Given the description of an element on the screen output the (x, y) to click on. 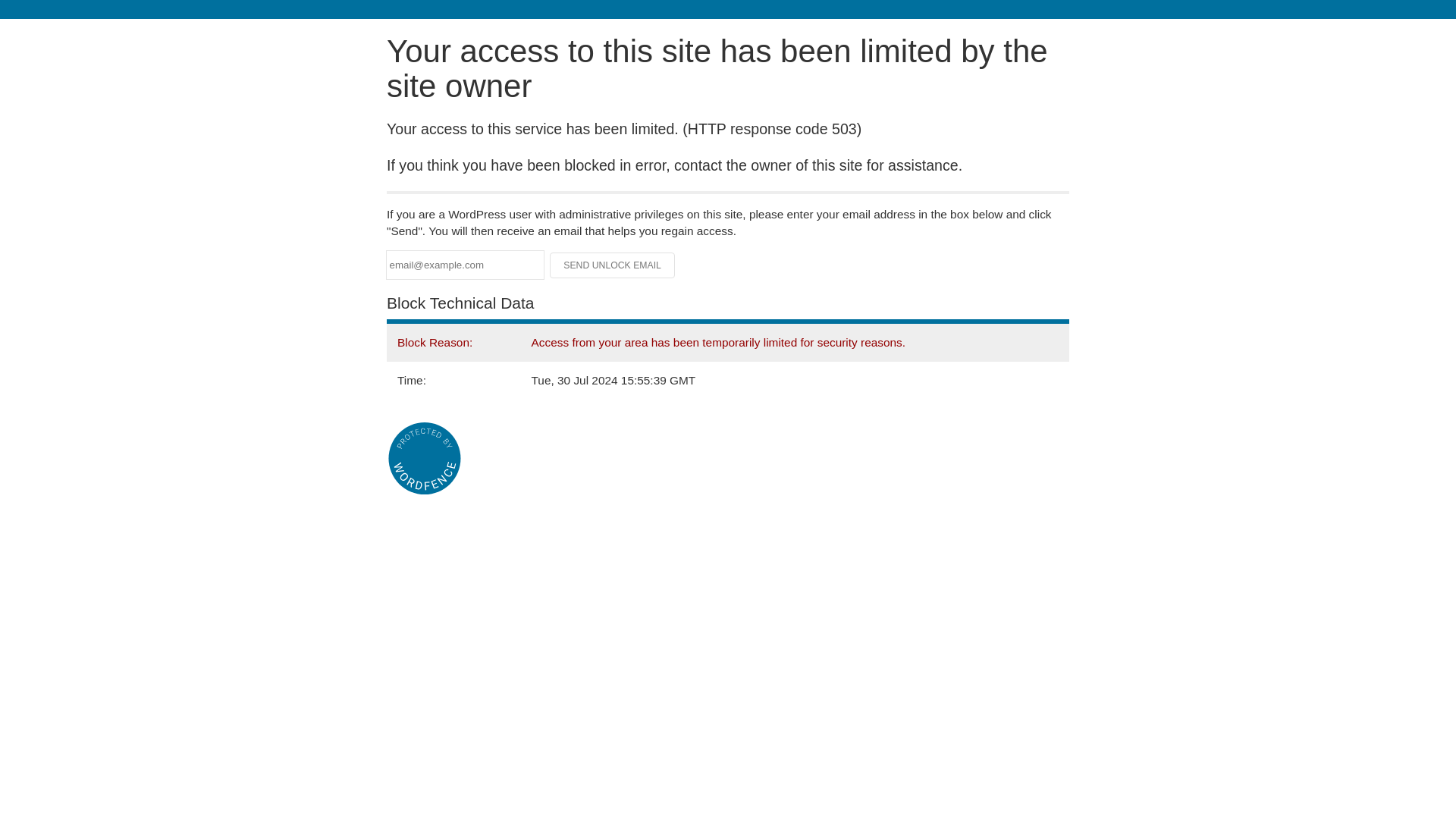
Send Unlock Email (612, 265)
Send Unlock Email (612, 265)
